Given the description of an element on the screen output the (x, y) to click on. 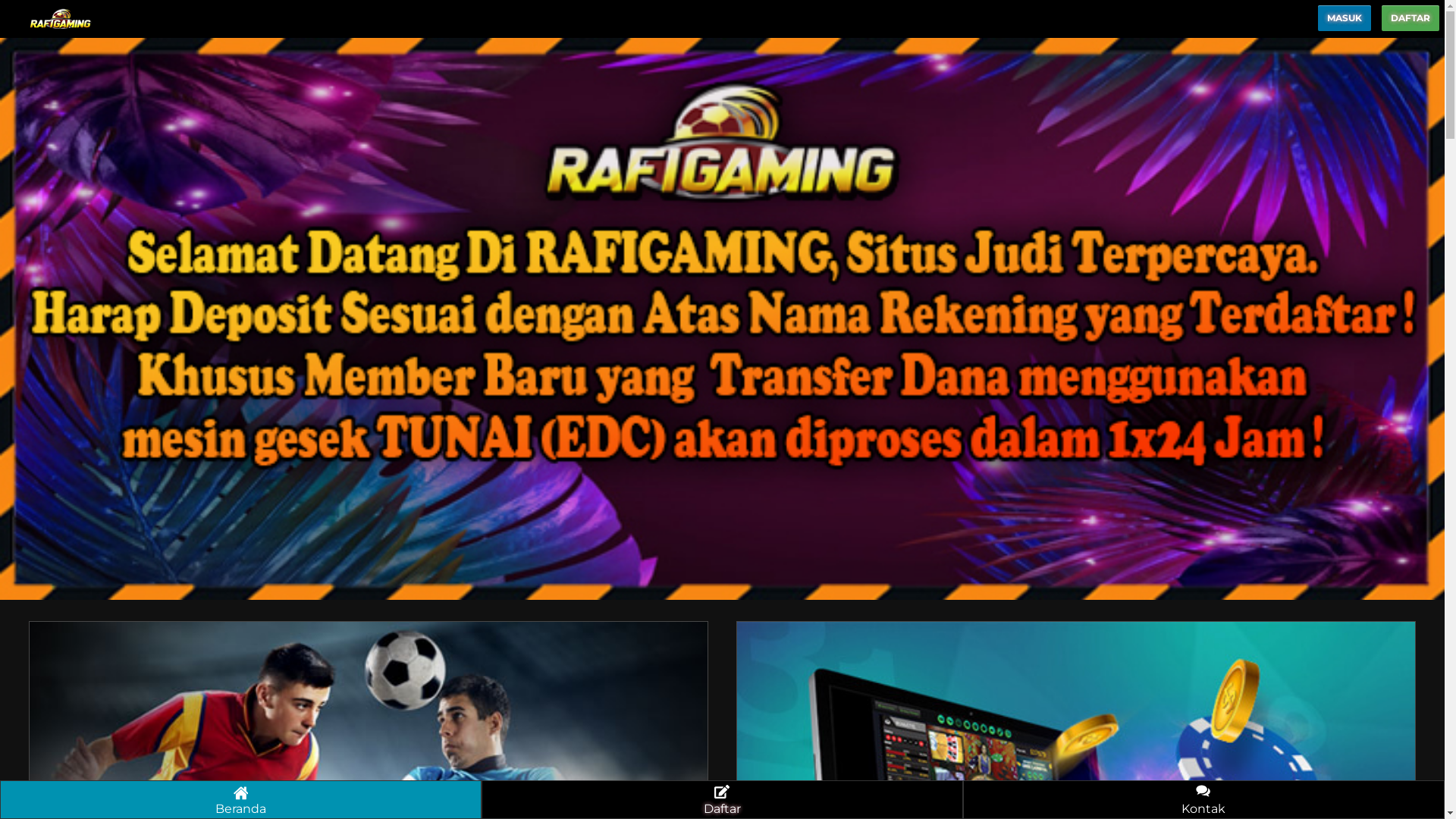
Previous item in carousel (1 of 1) Element type: hover (12, 318)
Next item in carousel (1 of 1) Element type: hover (1431, 318)
MASUK Element type: text (1344, 18)
DAFTAR Element type: text (1410, 18)
